Given the description of an element on the screen output the (x, y) to click on. 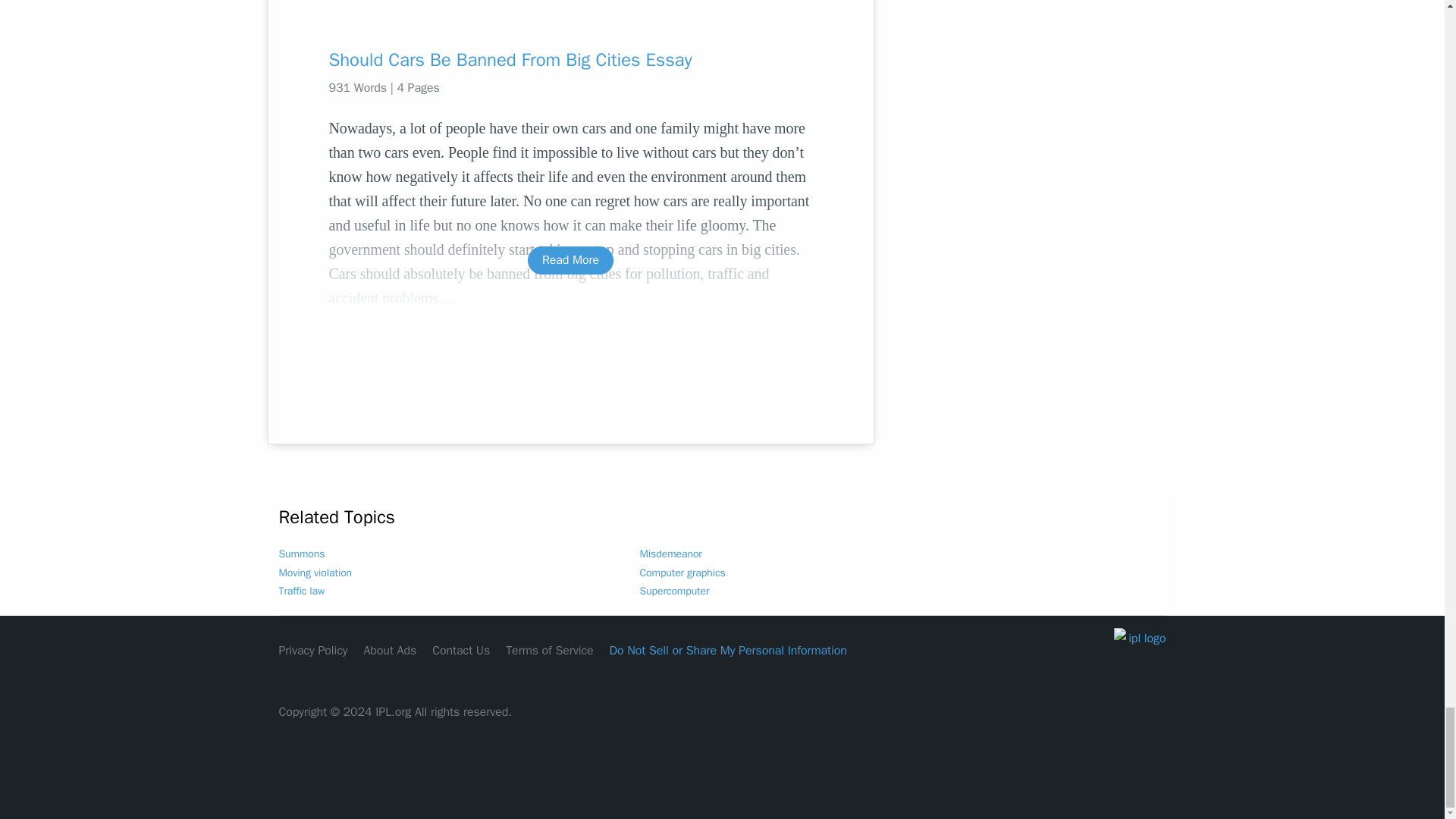
Misdemeanor (670, 553)
Computer graphics (682, 572)
Terms of Service (548, 650)
Moving violation (315, 572)
Traffic law (301, 590)
Supercomputer (675, 590)
About Ads (389, 650)
Contact Us (460, 650)
Privacy Policy (313, 650)
Summons (301, 553)
